Given the description of an element on the screen output the (x, y) to click on. 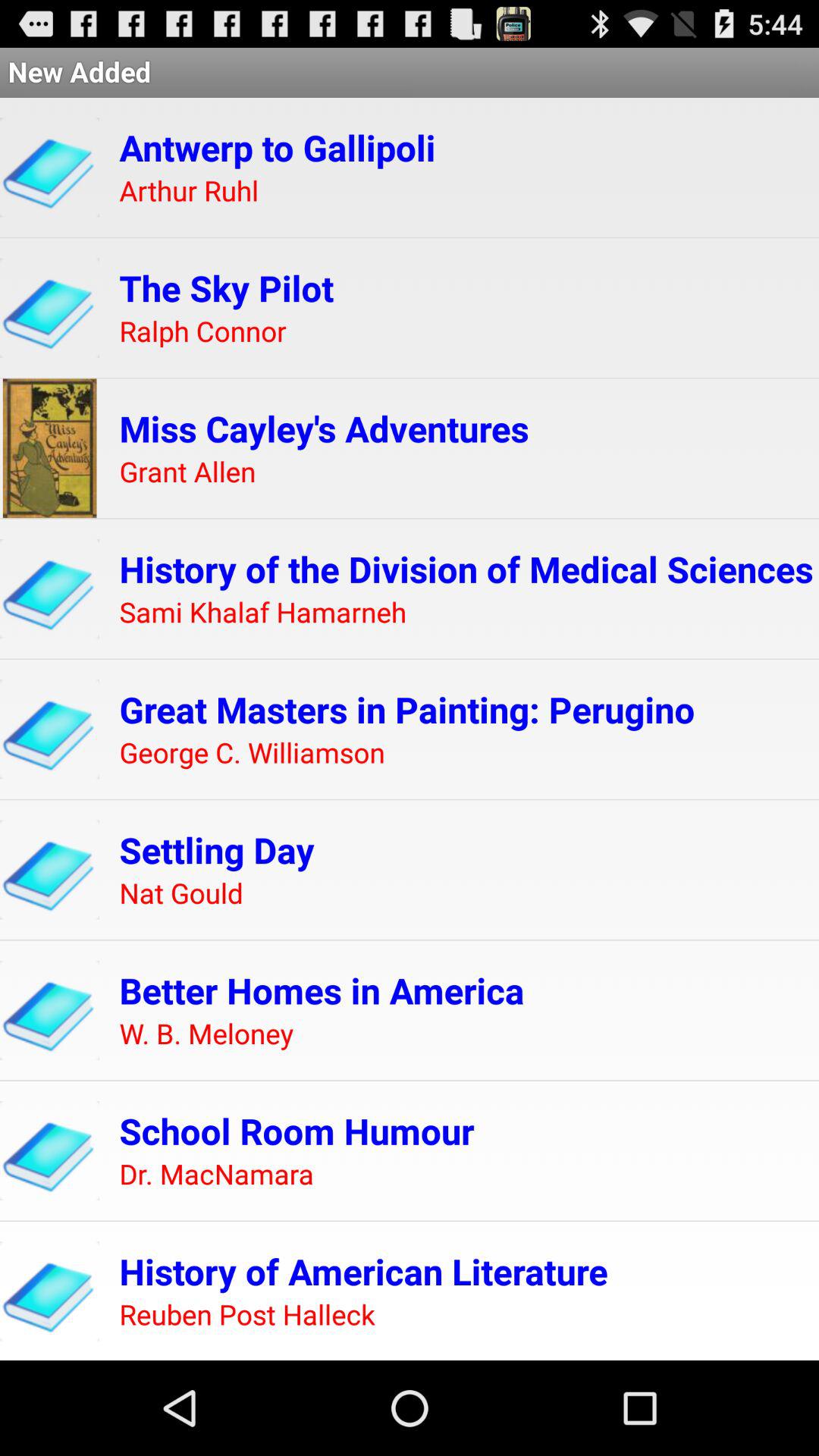
launch the george c. williamson app (252, 753)
